Given the description of an element on the screen output the (x, y) to click on. 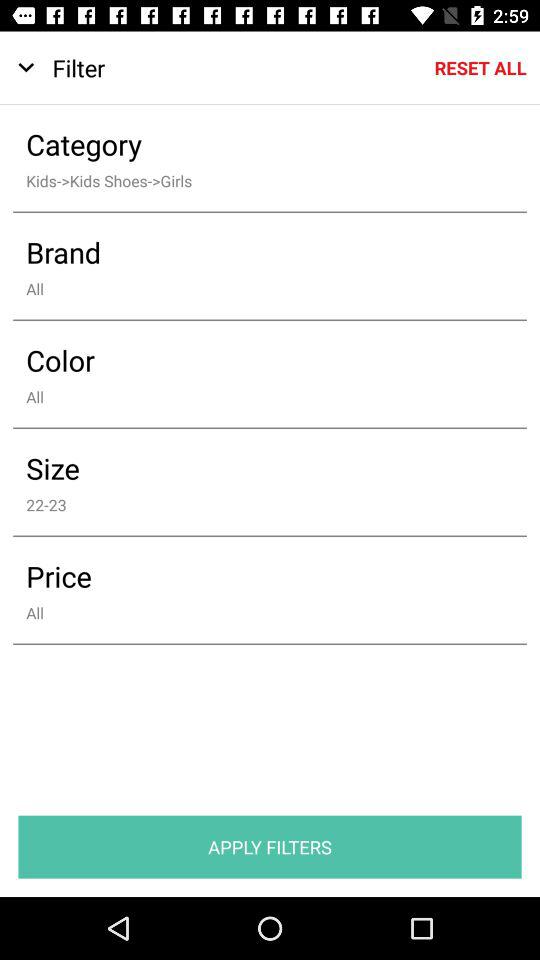
choose icon above the kids kids shoes (256, 143)
